Given the description of an element on the screen output the (x, y) to click on. 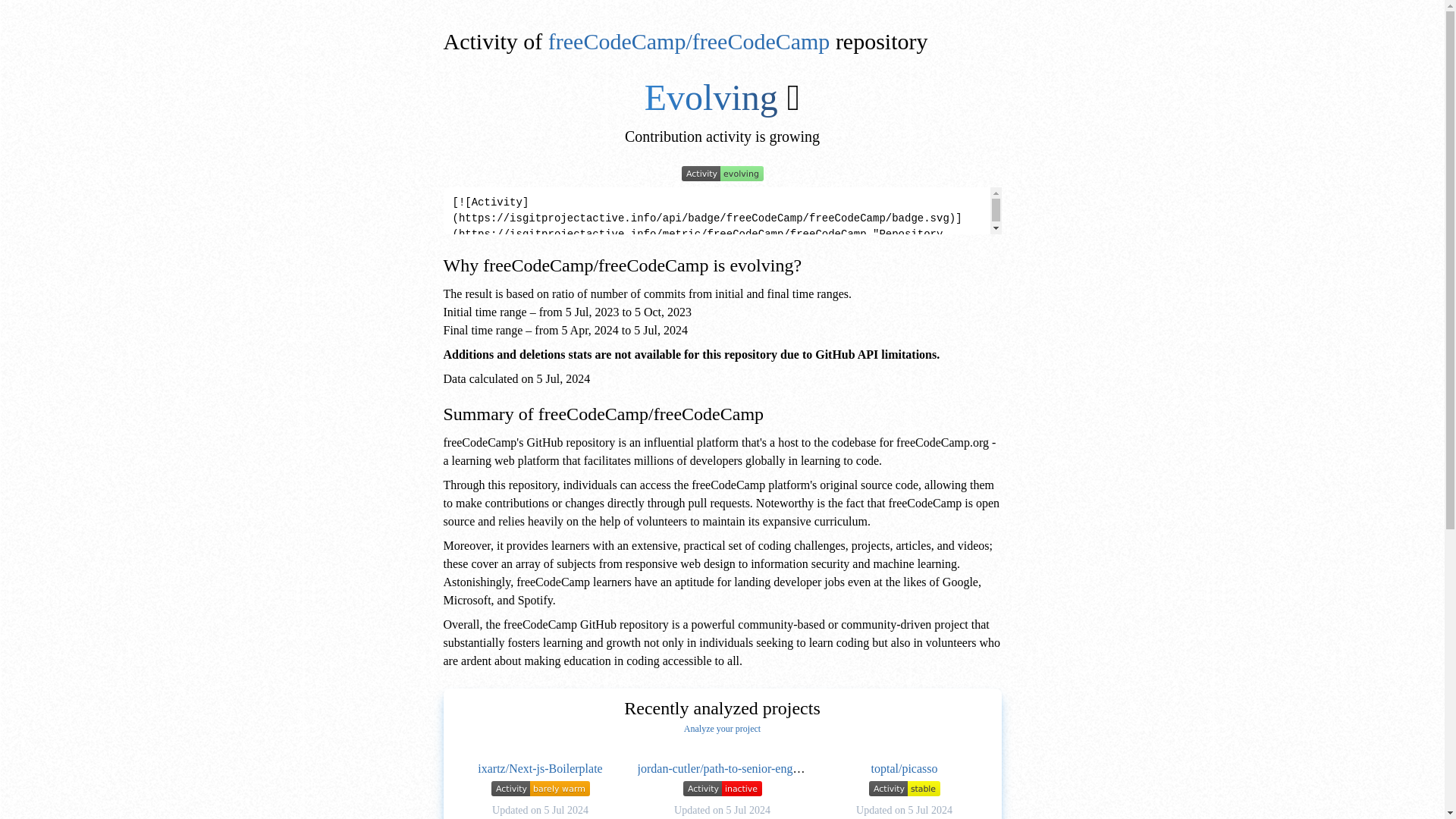
Analyze your project (722, 728)
Analyze your project (722, 728)
